Given the description of an element on the screen output the (x, y) to click on. 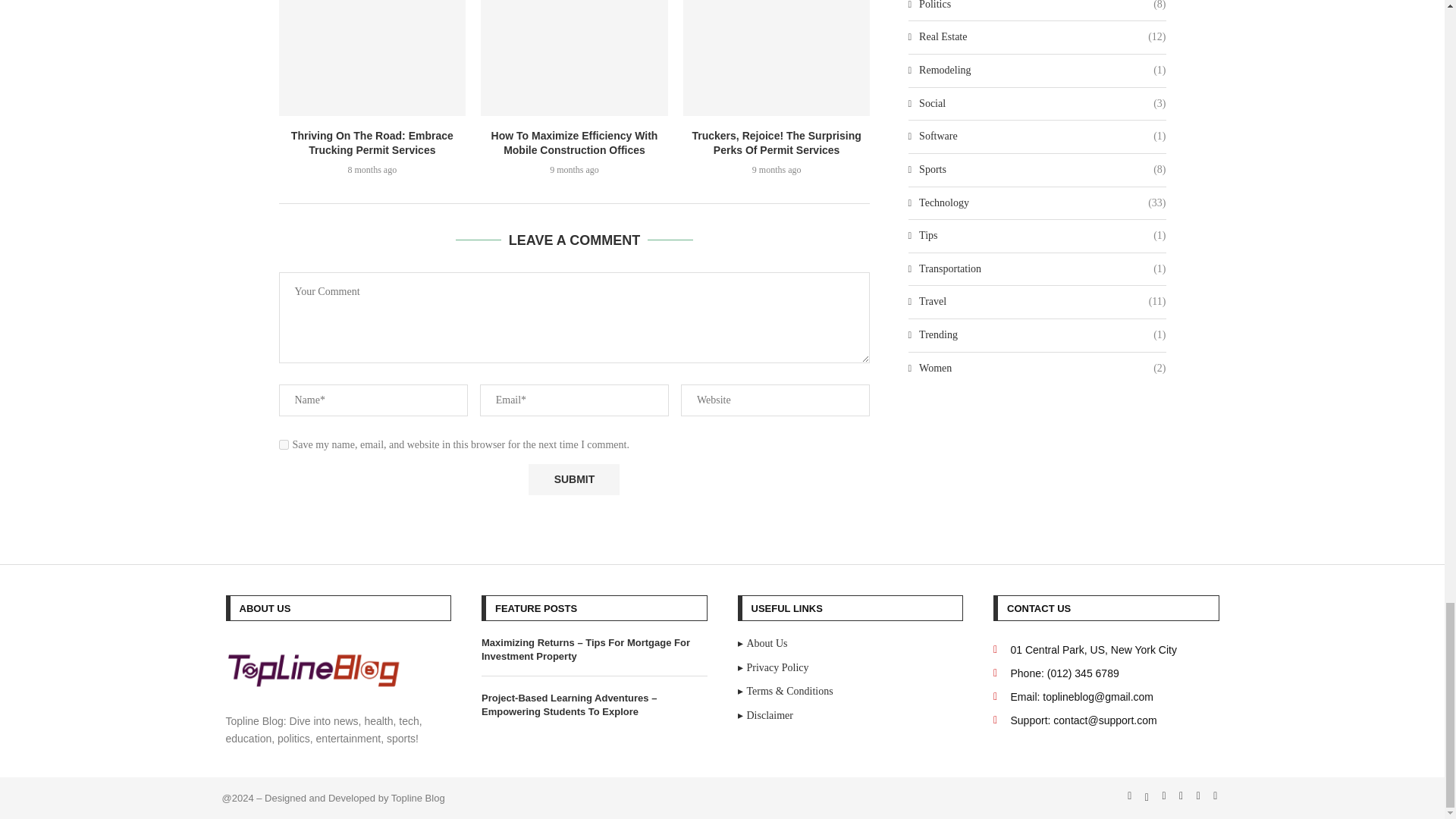
How To Maximize Efficiency With Mobile Construction Offices (574, 57)
yes (283, 444)
Submit (574, 479)
Thriving On The Road: Embrace Trucking Permit Services (372, 57)
Truckers, Rejoice! The Surprising Perks Of Permit Services (776, 57)
